Given the description of an element on the screen output the (x, y) to click on. 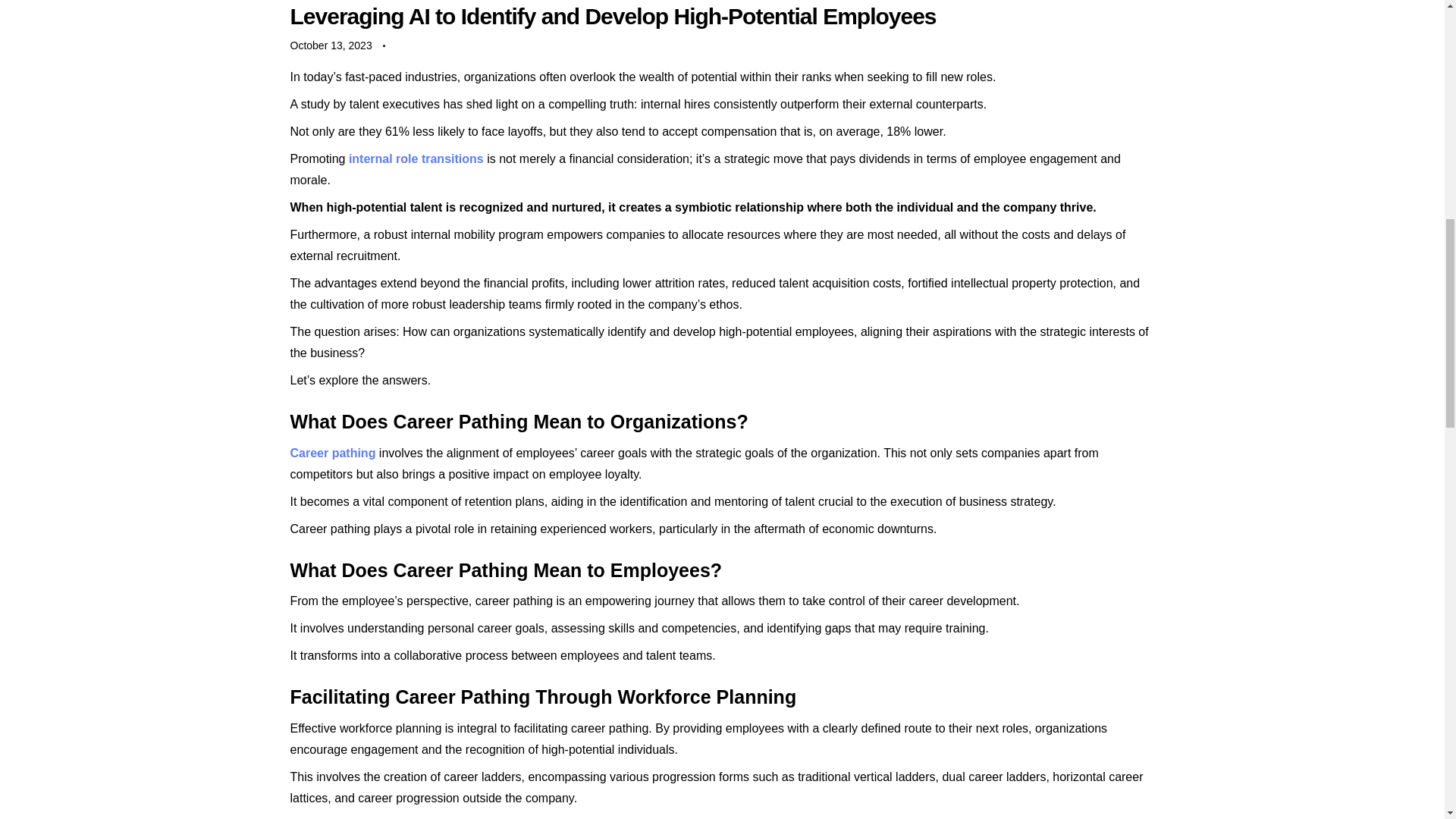
October 13, 2023 (330, 45)
internal role transitions (416, 158)
Career pathing (332, 452)
